Given the description of an element on the screen output the (x, y) to click on. 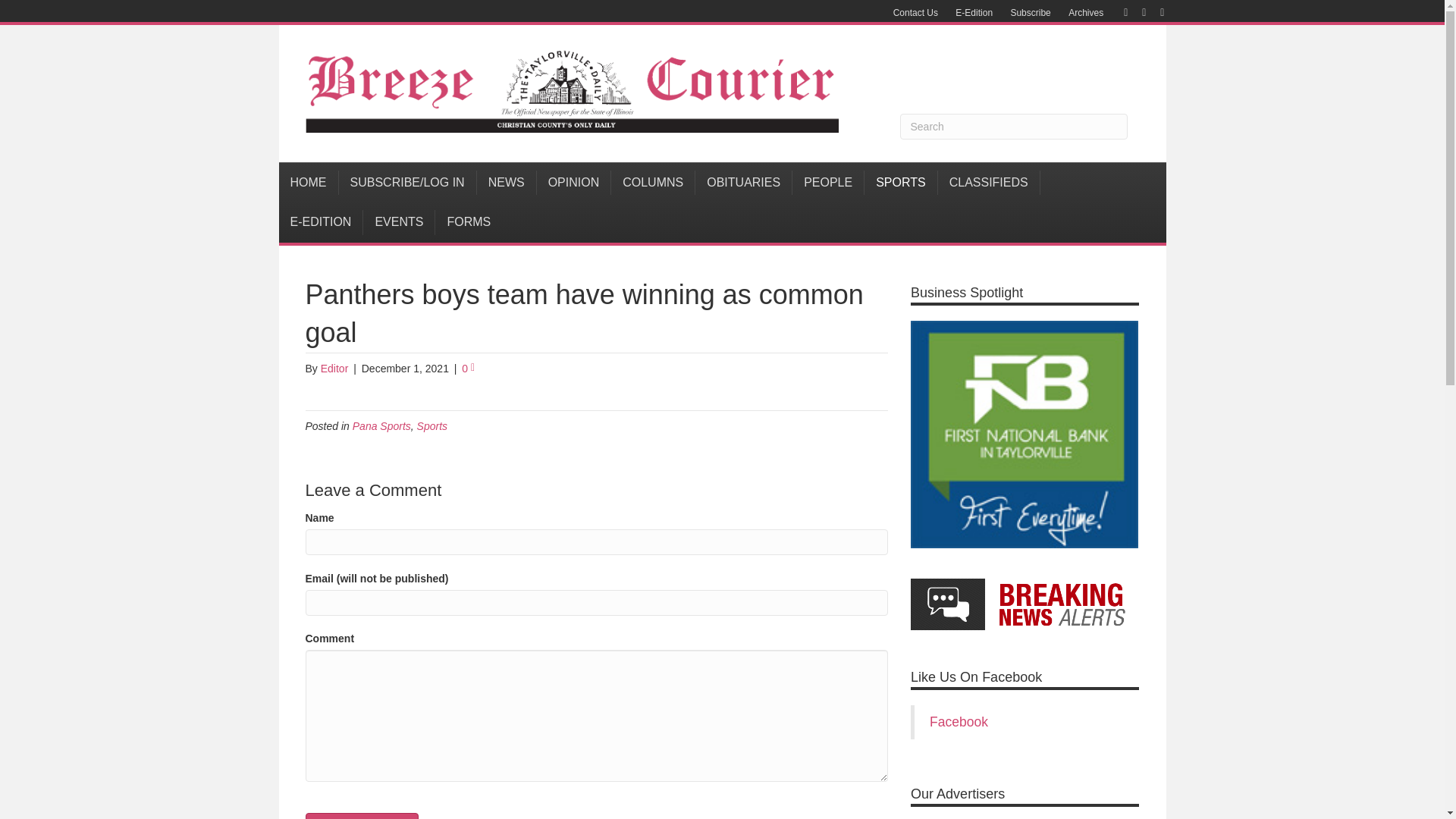
Type and press Enter to search. (1012, 126)
PEOPLE (828, 182)
COLUMNS (653, 182)
Submit Comment (361, 816)
NEWS (507, 182)
HOME (309, 182)
E-Edition (973, 13)
SPORTS (900, 182)
Twitter (1135, 11)
OBITUARIES (743, 182)
Subscribe (1030, 13)
Email (1154, 11)
OPINION (574, 182)
Archives (1085, 13)
Contact Us (914, 13)
